Given the description of an element on the screen output the (x, y) to click on. 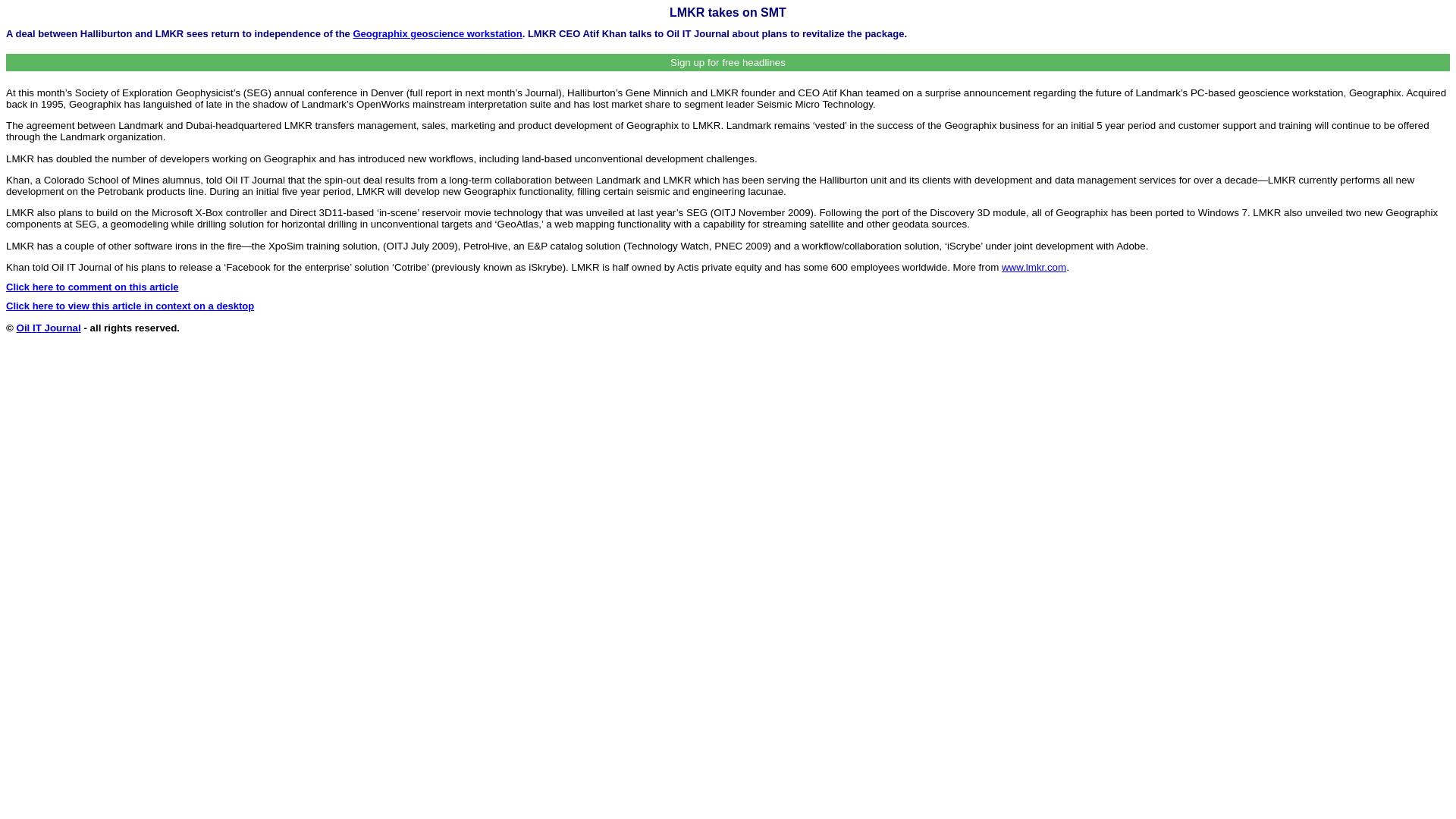
Sponsored Link (436, 33)
www.lmkr.com (1033, 266)
Geographix geoscience workstation (436, 33)
Oil IT Journal (48, 327)
Sign up for free headlines (727, 62)
Click here to view this article in context on a desktop (129, 306)
Click here to comment on this article (92, 286)
